Given the description of an element on the screen output the (x, y) to click on. 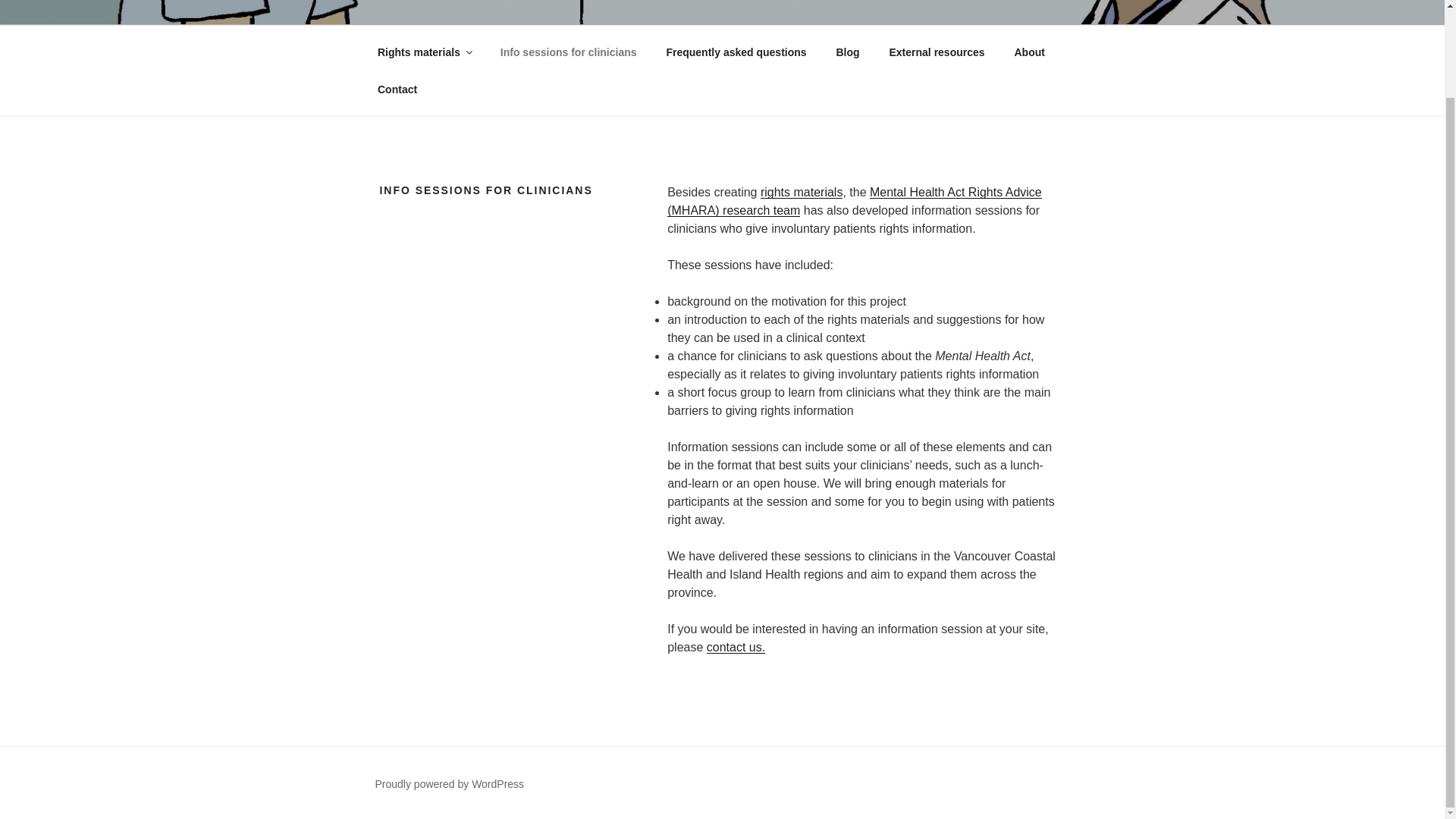
Proudly powered by WordPress (449, 784)
rights materials (801, 192)
External resources (936, 51)
About (1029, 51)
Frequently asked questions (735, 51)
Blog (847, 51)
Info sessions for clinicians (567, 51)
Contact (396, 89)
Rights materials (423, 51)
contact us. (735, 646)
